Given the description of an element on the screen output the (x, y) to click on. 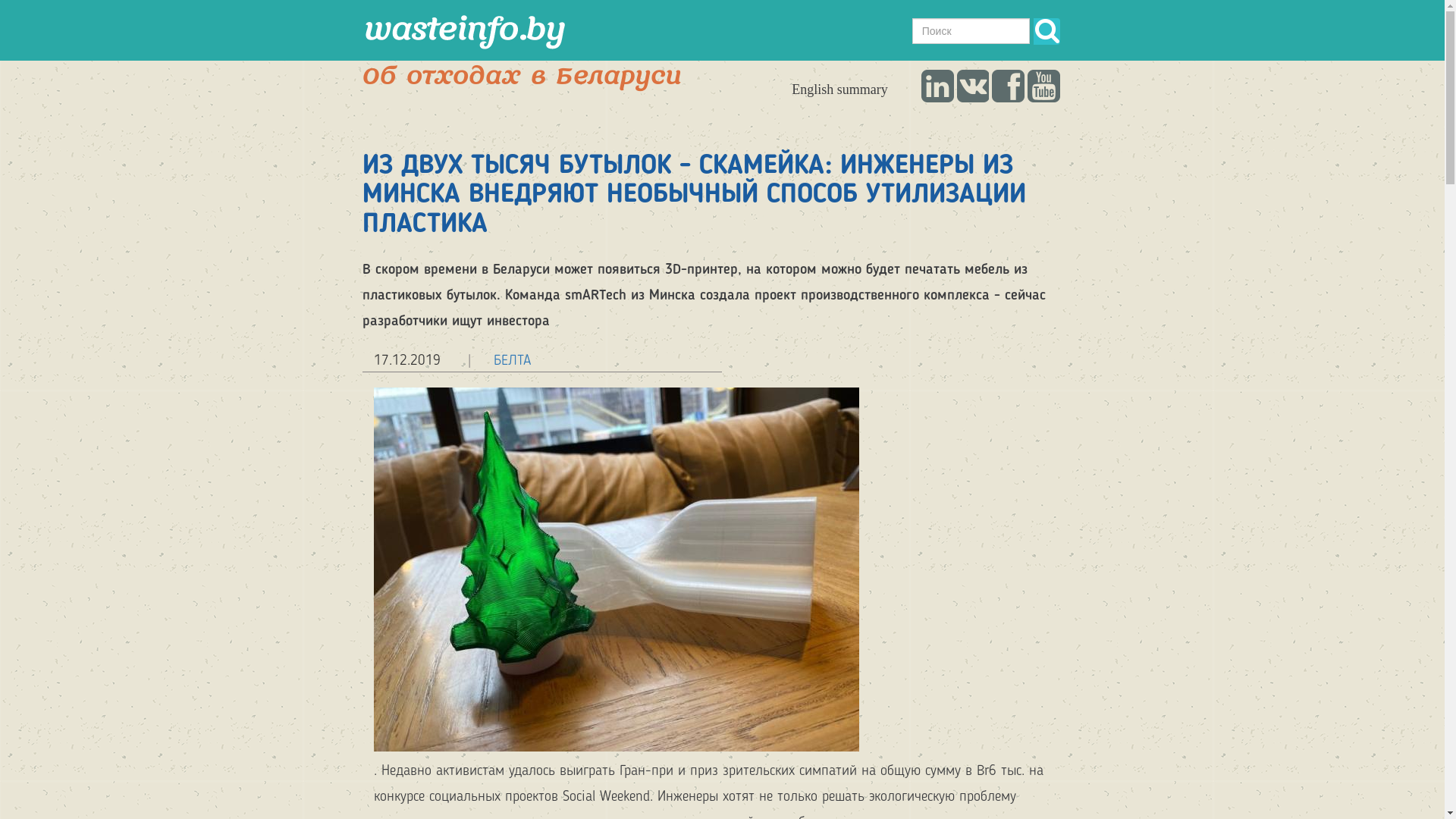
English summary Element type: text (839, 89)
